Given the description of an element on the screen output the (x, y) to click on. 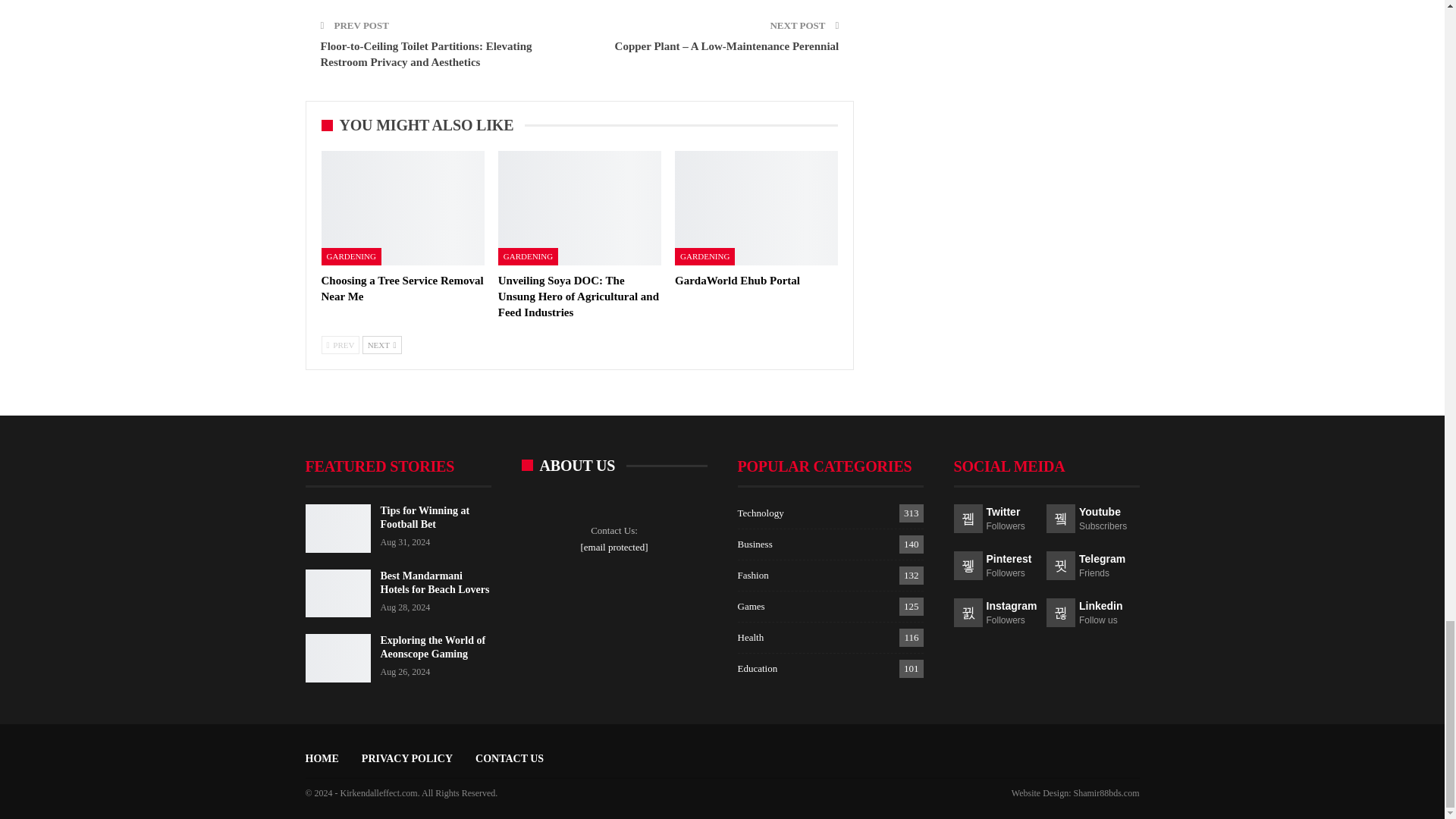
Next (381, 344)
Choosing a Tree Service Removal Near Me (402, 288)
Choosing a Tree Service Removal Near Me (402, 207)
GardaWorld Ehub Portal (756, 207)
GardaWorld Ehub Portal (737, 280)
Previous (340, 344)
